Given the description of an element on the screen output the (x, y) to click on. 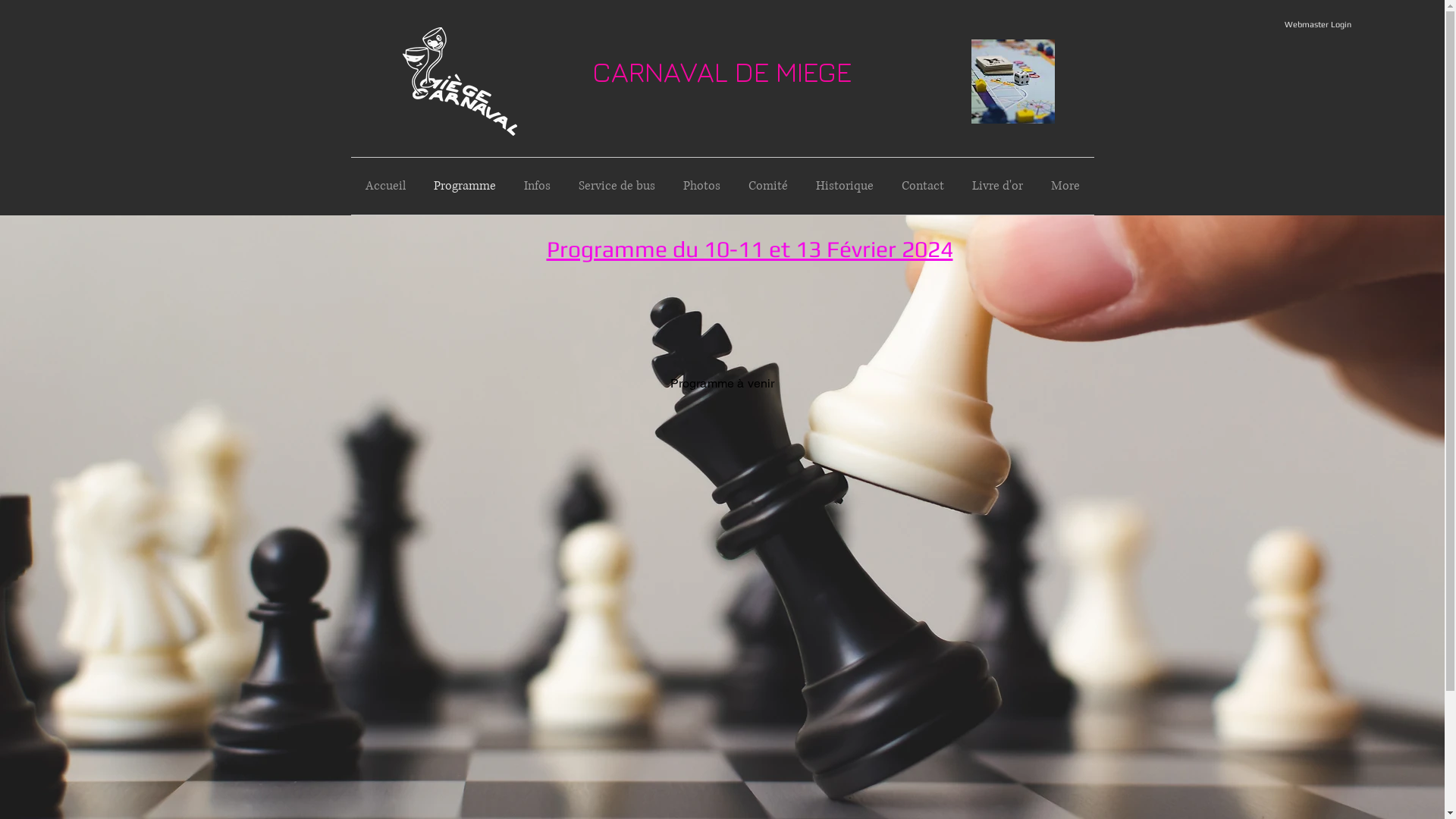
Infos Element type: text (536, 185)
CARNAVAL DE MIEGE Element type: text (720, 70)
Contact Element type: text (922, 185)
Historique Element type: text (845, 185)
Codiv-19.png Element type: hover (1012, 81)
Accueil Element type: text (384, 185)
Programme Element type: text (465, 185)
Photos Element type: text (701, 185)
Webmaster Login Element type: text (1317, 24)
Service de bus Element type: text (616, 185)
Livre d'or Element type: text (997, 185)
